Given the description of an element on the screen output the (x, y) to click on. 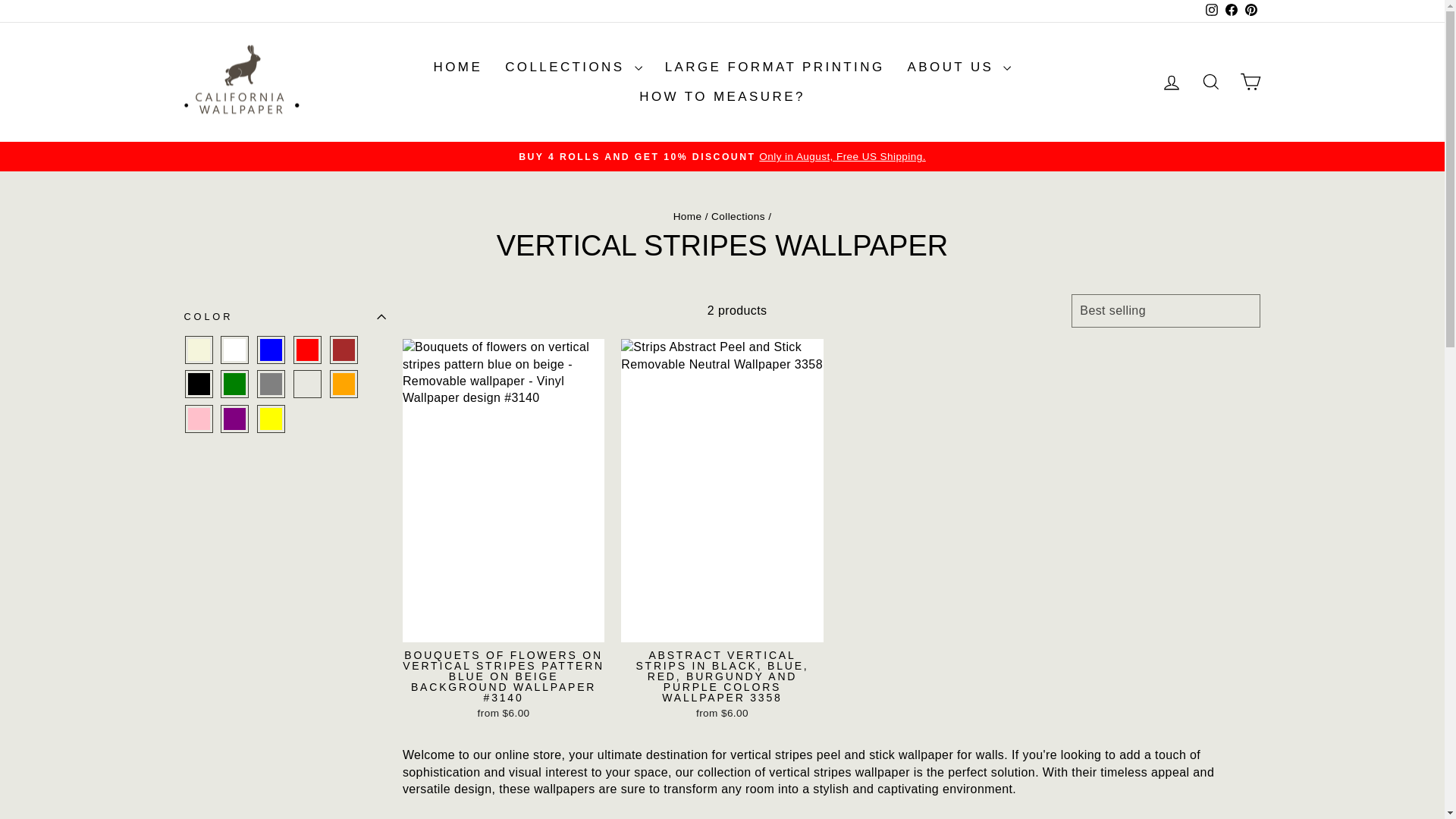
Show products matching tag Blue (270, 349)
Show products matching tag Red (307, 349)
Show products matching tag Multicolor (307, 384)
California Wallpaper on Facebook (1230, 11)
Show products matching tag Brown (343, 349)
Show products matching tag Grey (270, 384)
Show products matching tag Black (198, 384)
Show products matching tag Pink (198, 418)
instagram (1211, 9)
California Wallpaper on Instagram (1211, 11)
